Given the description of an element on the screen output the (x, y) to click on. 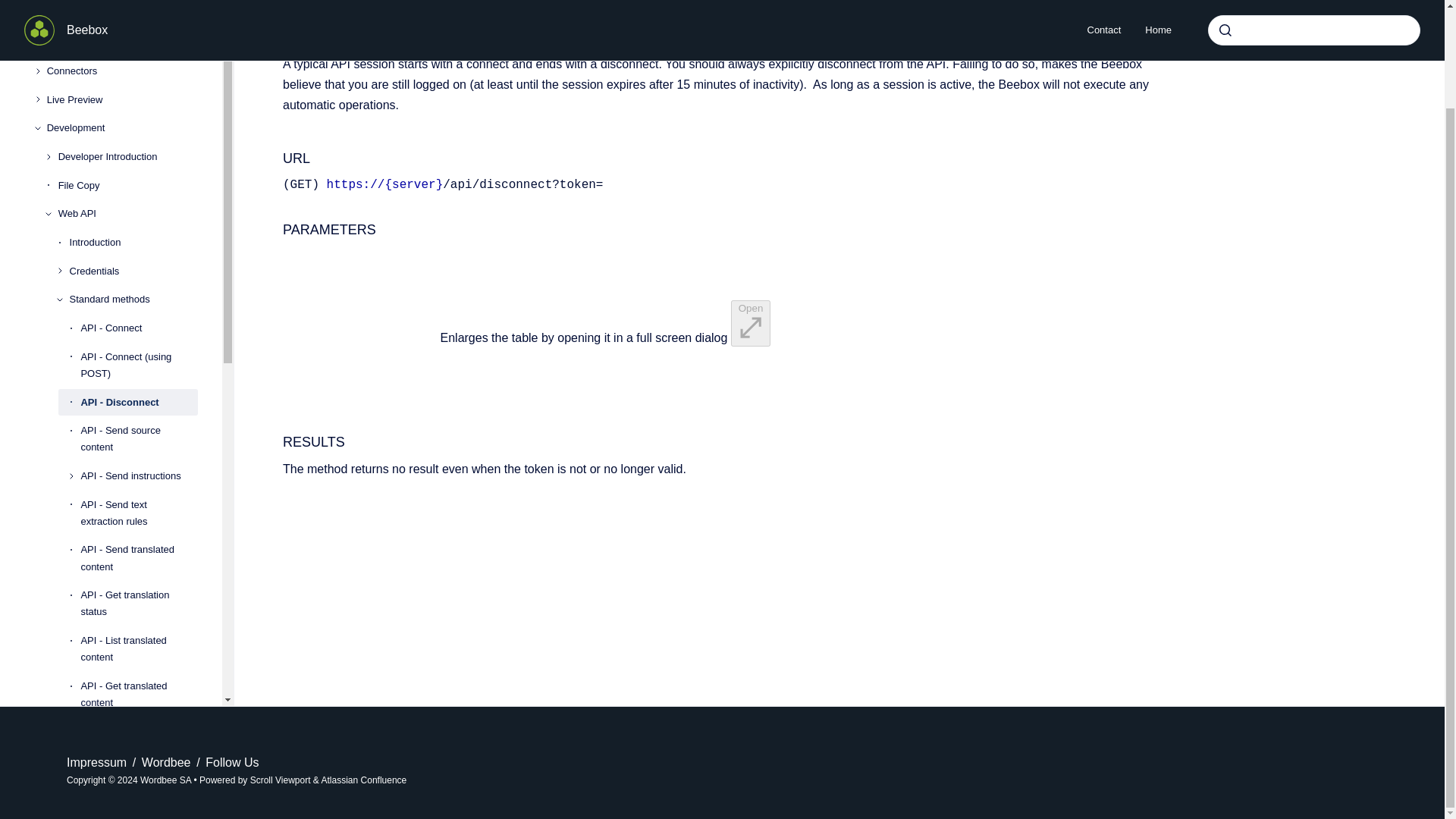
Connectors (122, 71)
Features (122, 13)
API - List translated content (139, 648)
API - Disconnect (139, 402)
Standard methods (133, 299)
Development (122, 127)
API - Get translation status (139, 603)
Live Preview (122, 99)
User Guide (122, 42)
Web API (128, 213)
API - Send instructions (139, 475)
Credentials (133, 271)
API - Send source content (139, 438)
Copy to clipboard (275, 228)
API - Connect (139, 328)
